Given the description of an element on the screen output the (x, y) to click on. 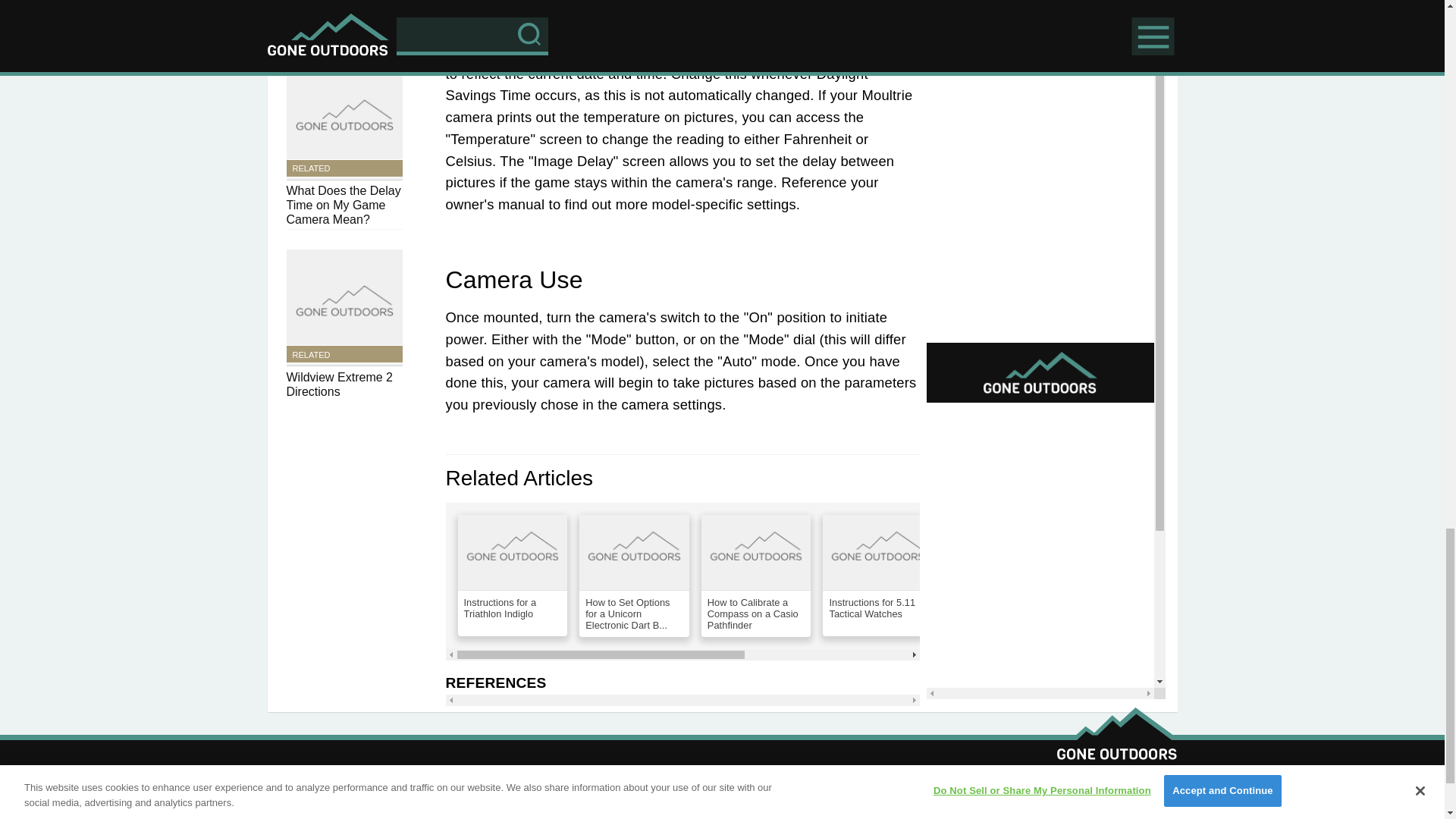
How to Adjust BSA Rifle Scopes (999, 575)
How to Calibrate a Compass on a Casio Pathfinder (755, 576)
Instructions for a Triathlon Indiglo (512, 575)
How to Turn on BSA Red Dot Scope (1121, 575)
How to Set Options for a Unicorn Electronic Dart B... (633, 576)
Instructions for 5.11 Tactical Watches (877, 575)
